Given the description of an element on the screen output the (x, y) to click on. 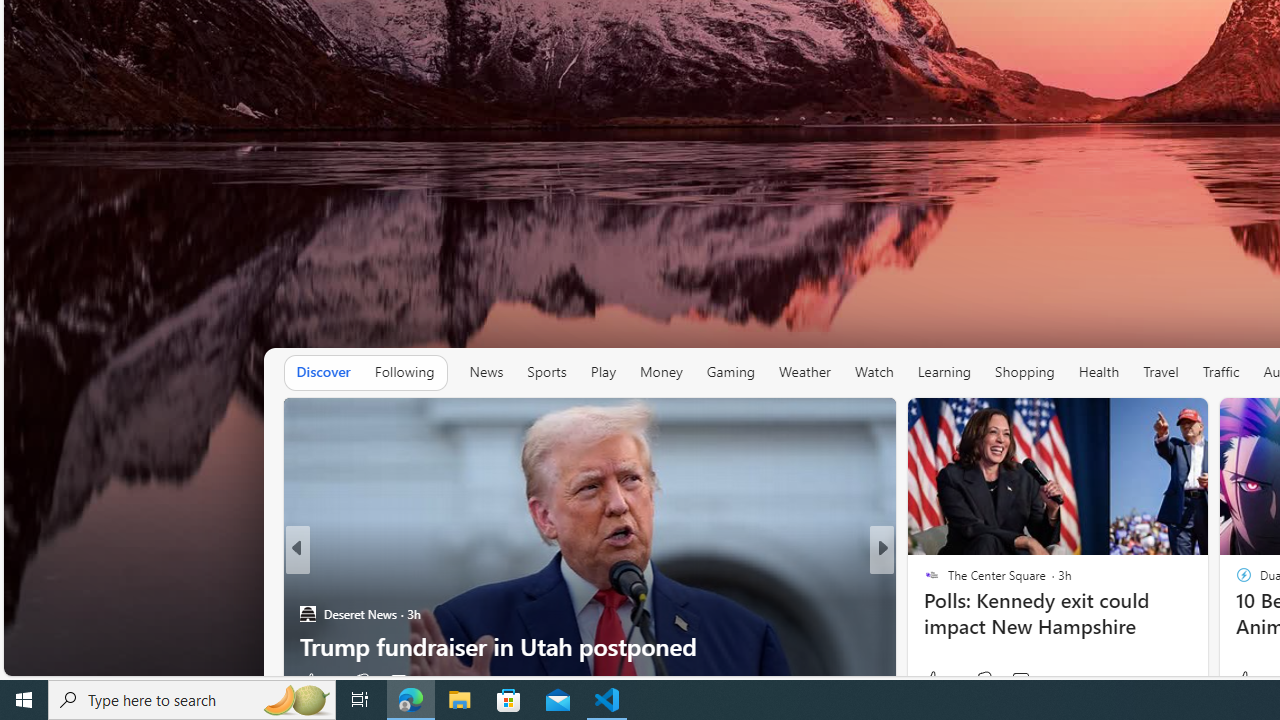
Business Insider (923, 581)
View comments 338 Comment (1013, 681)
View comments 5 Comment (1014, 681)
CNBC (923, 581)
View comments 31 Comment (1019, 681)
View comments 338 Comment (1025, 681)
View comments 226 Comment (1025, 681)
Daily Meal (923, 614)
WatchMojo (923, 614)
319 Like (936, 681)
